Given the description of an element on the screen output the (x, y) to click on. 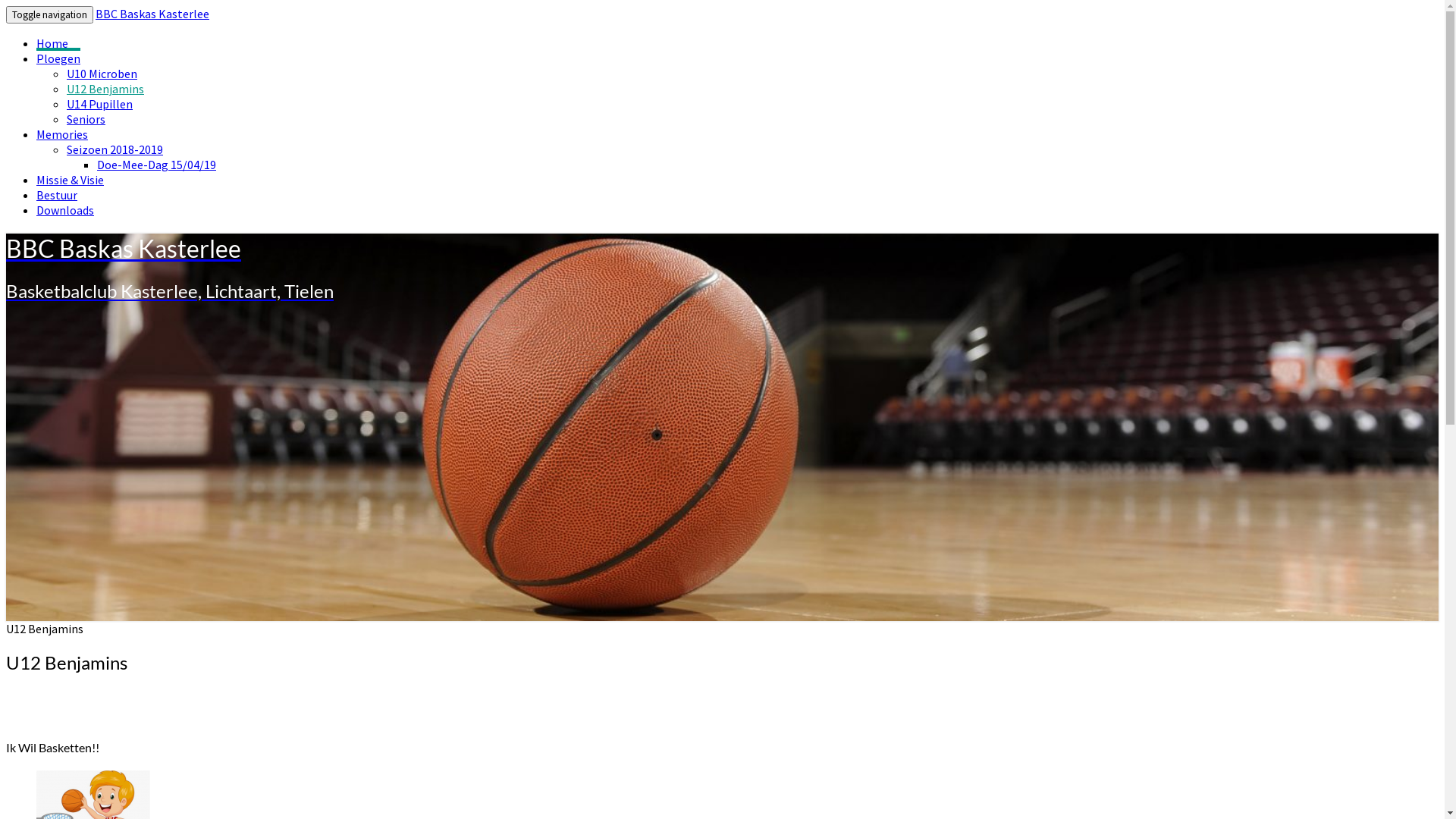
U12 Benjamins Element type: text (105, 88)
Home Element type: text (52, 42)
Bestuur Element type: text (56, 194)
BBC Baskas Kasterlee Element type: text (152, 13)
U10 Microben Element type: text (101, 73)
Missie & Visie Element type: text (69, 179)
Downloads Element type: text (65, 209)
Ploegen Element type: text (58, 56)
Doe-Mee-Dag 15/04/19 Element type: text (156, 164)
Seniors Element type: text (85, 118)
U14 Pupillen Element type: text (99, 103)
Memories Element type: text (61, 133)
Toggle navigation Element type: text (49, 14)
Seizoen 2018-2019 Element type: text (114, 148)
